Given the description of an element on the screen output the (x, y) to click on. 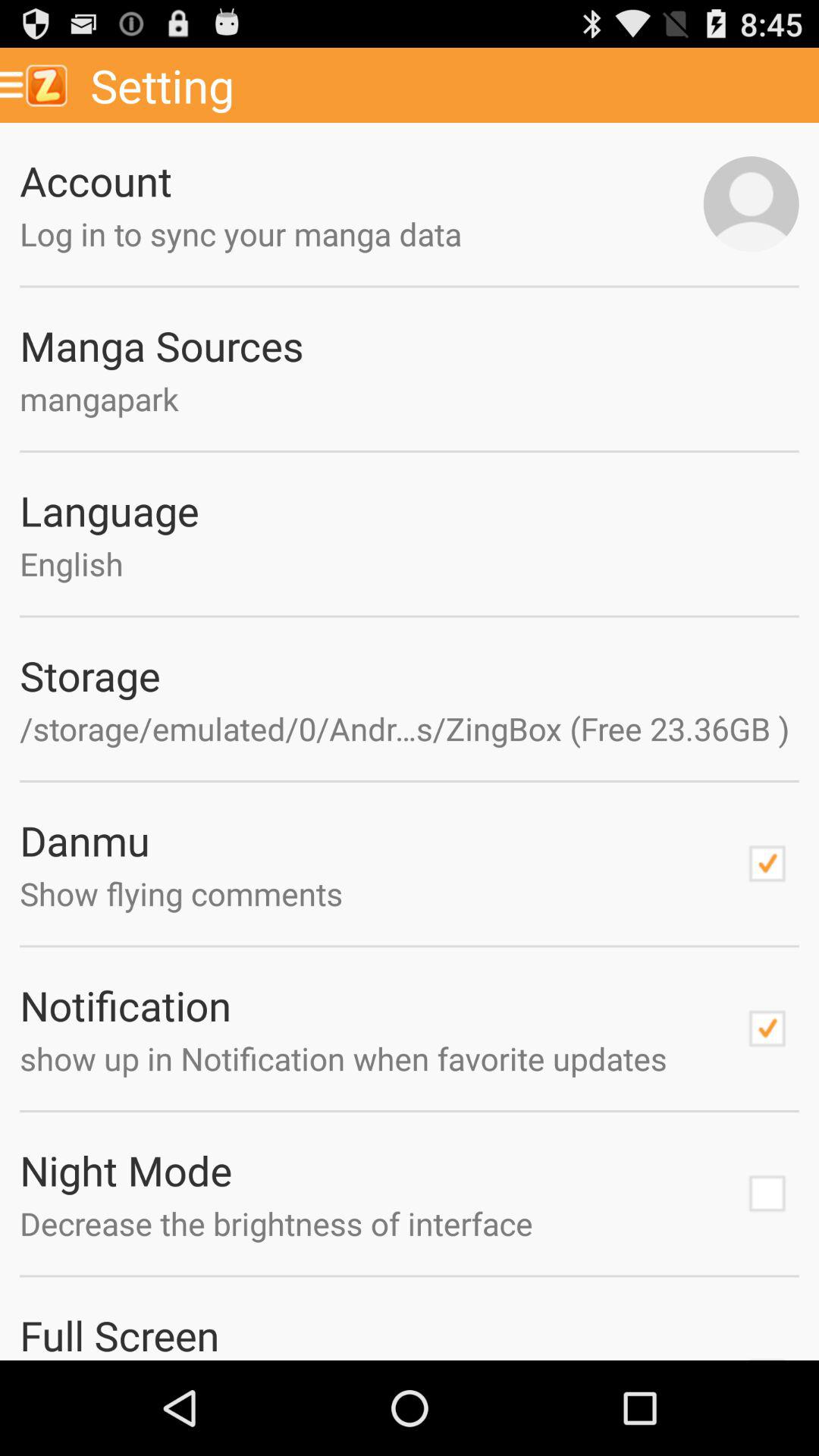
scroll until log in to app (361, 233)
